Given the description of an element on the screen output the (x, y) to click on. 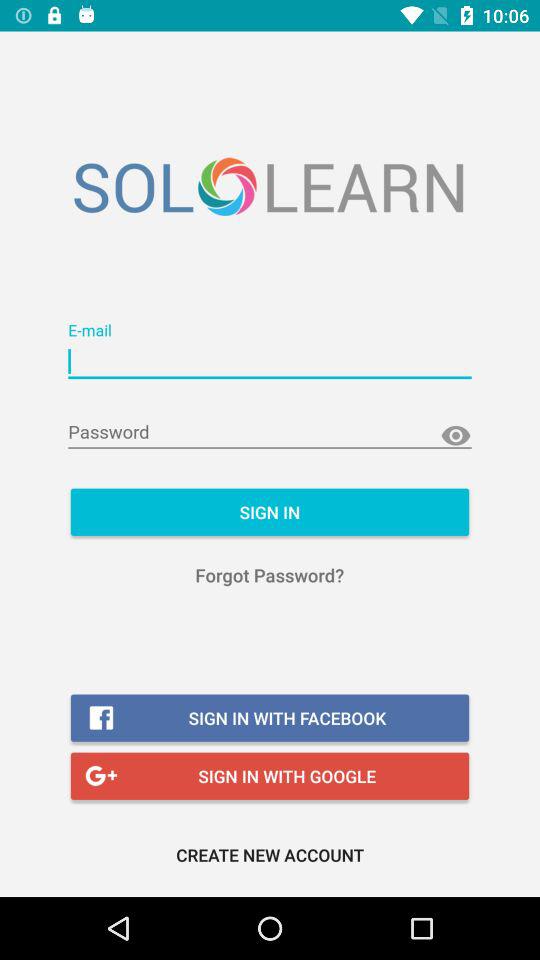
enter email in the box (270, 362)
